Given the description of an element on the screen output the (x, y) to click on. 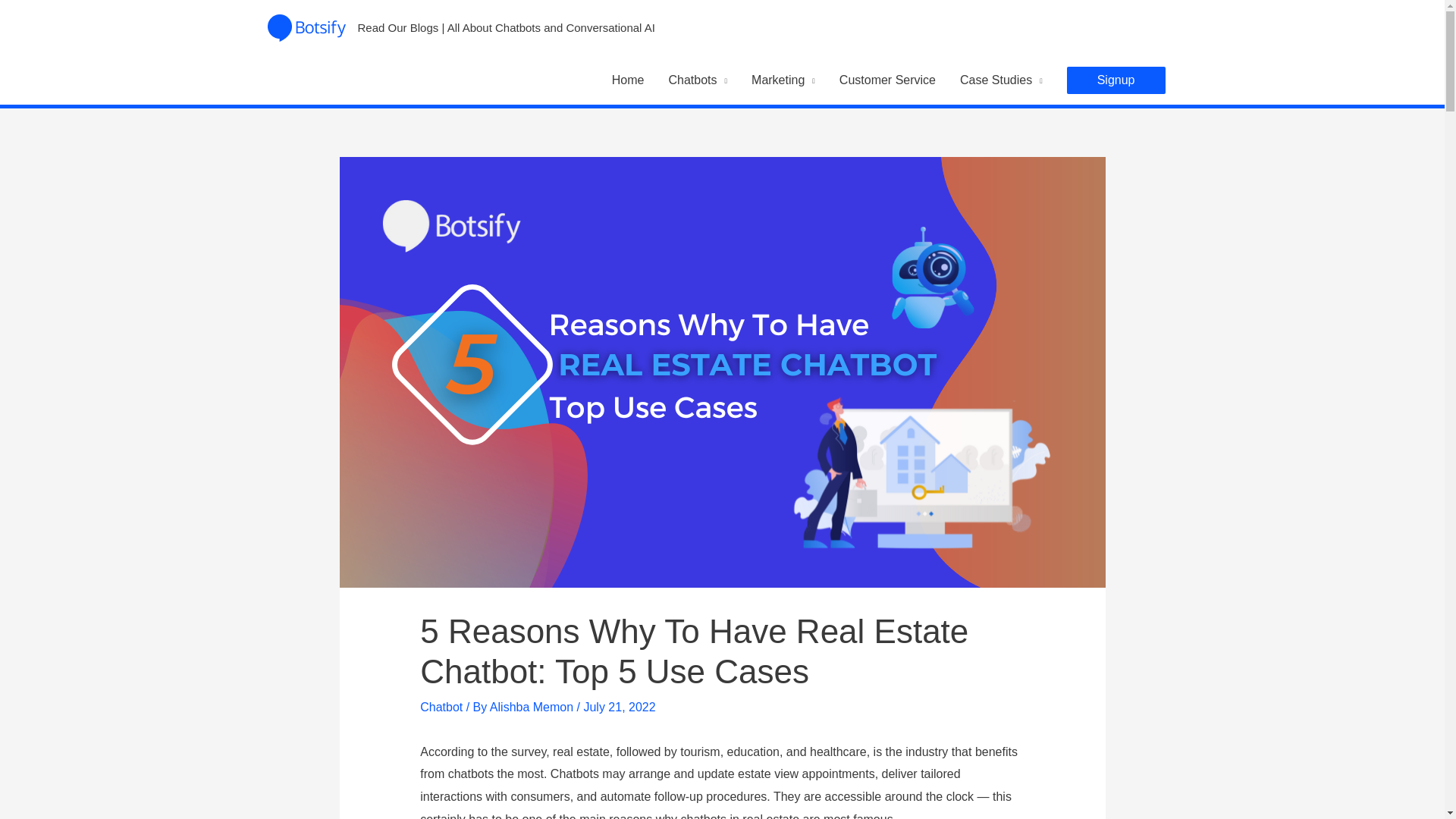
Chatbots (697, 80)
Case Studies (1000, 80)
Signup (1116, 80)
Chatbot (441, 707)
Alishba Memon (532, 707)
Customer Service (887, 80)
Home (627, 80)
View all posts by Alishba Memon (532, 707)
Marketing (783, 80)
